Given the description of an element on the screen output the (x, y) to click on. 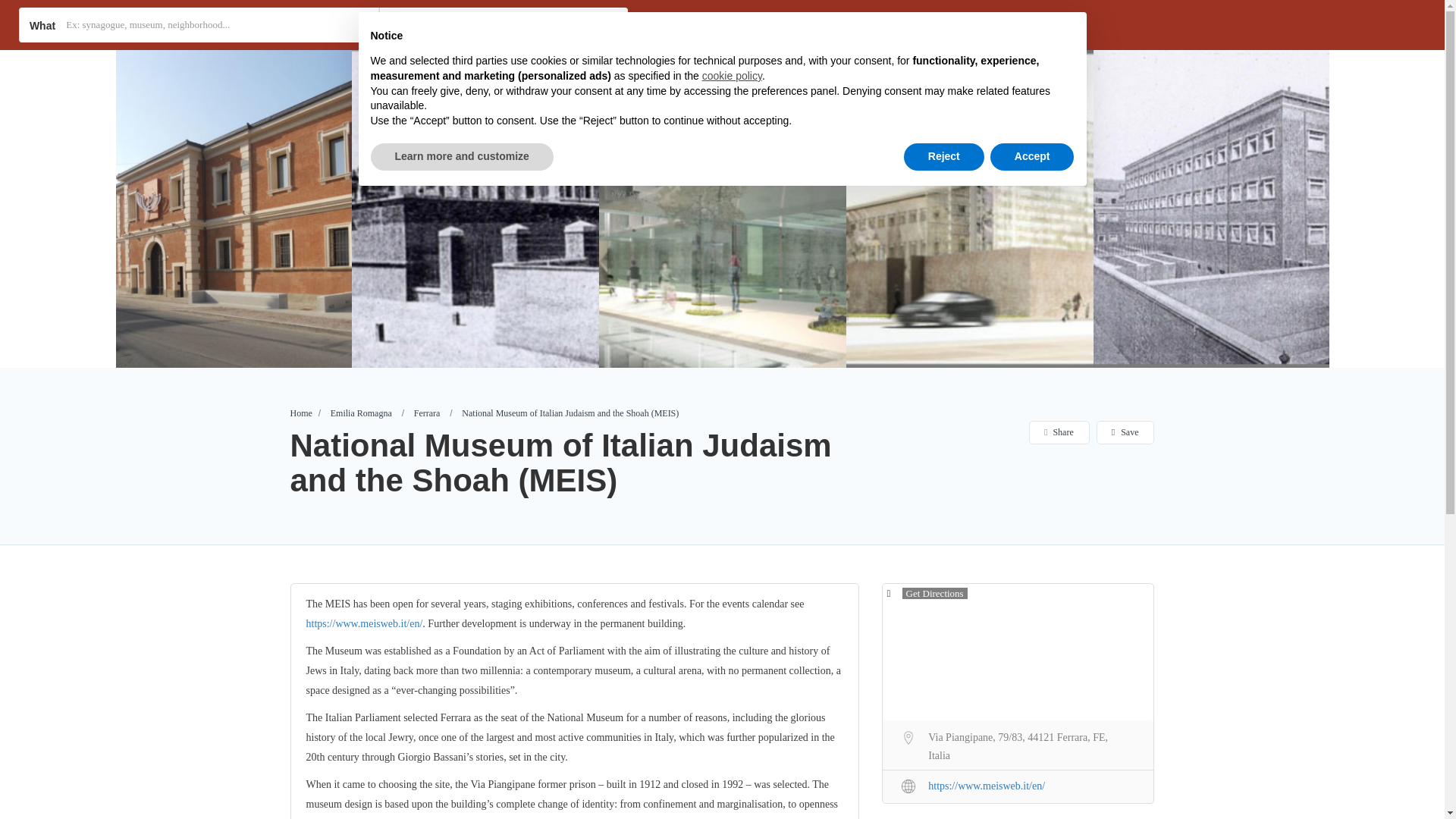
View all posts in Ferrara (427, 412)
English (1028, 24)
View all posts in Emilia Romagna (360, 412)
Choose the region or the city (526, 24)
